Given the description of an element on the screen output the (x, y) to click on. 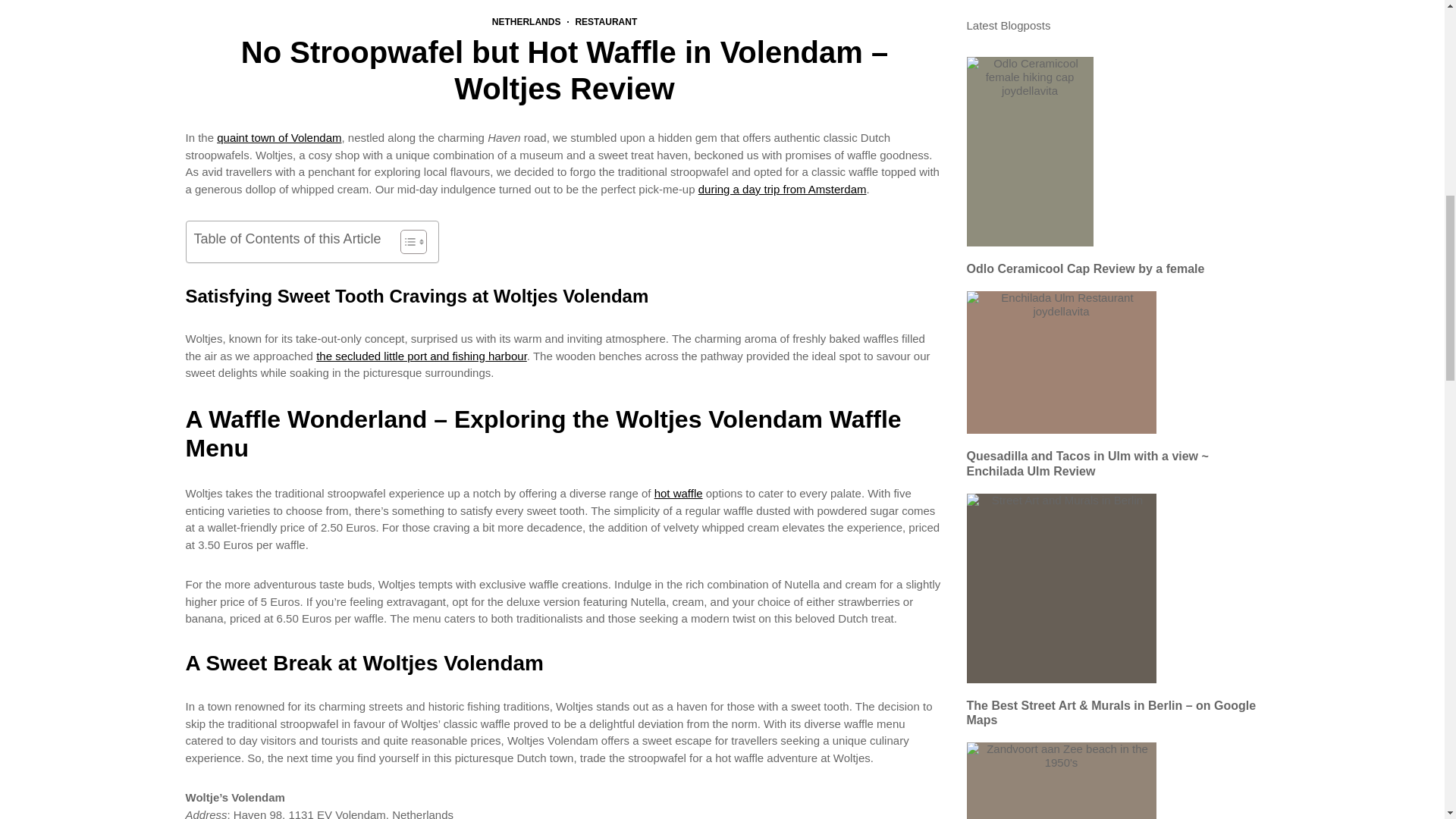
Odlo Ceramicool Cap Review by a female 9 (1029, 20)
